Given the description of an element on the screen output the (x, y) to click on. 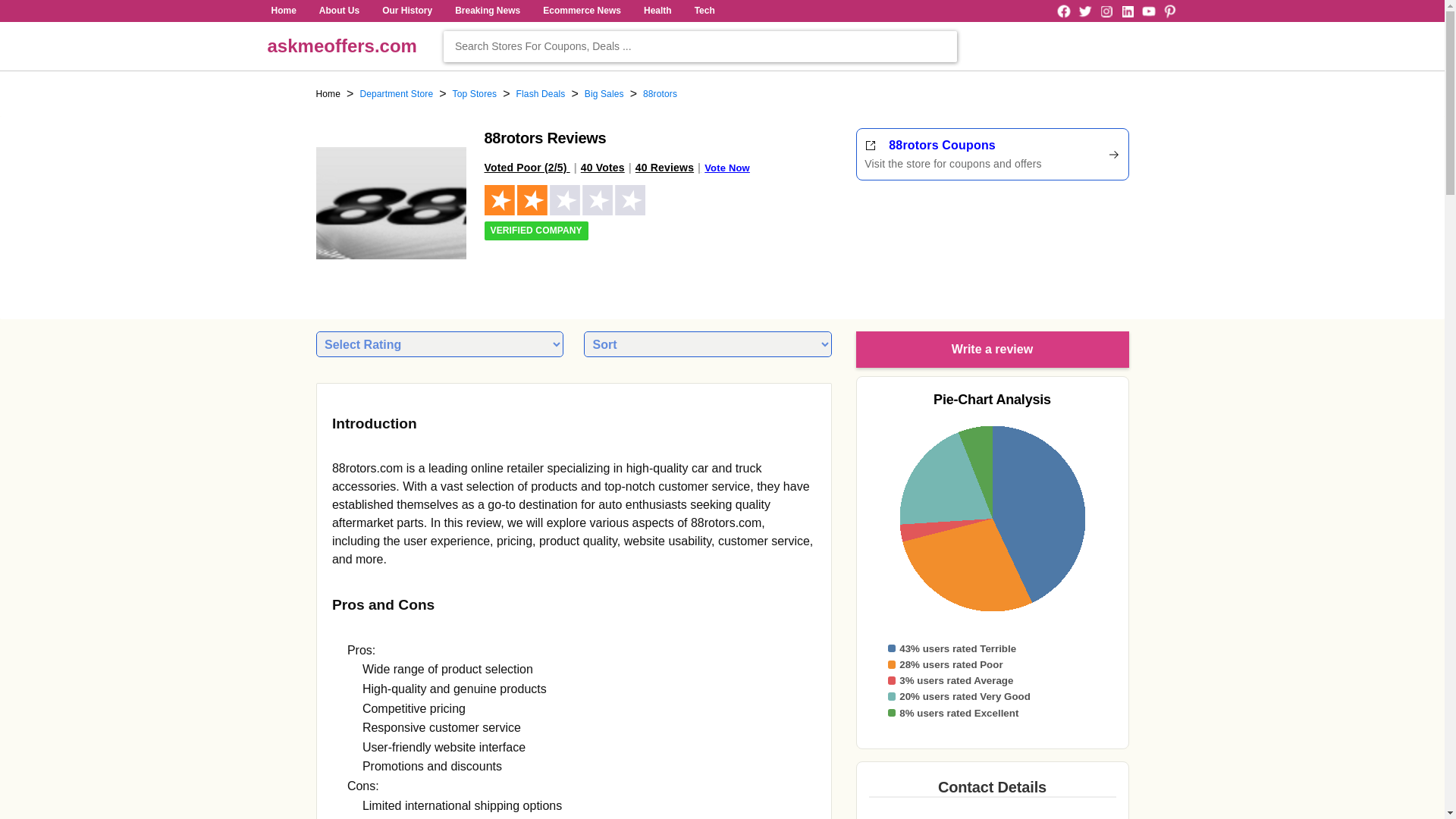
Top Stores (474, 93)
Tech (704, 10)
Department Store (395, 93)
About Us (338, 10)
Tech (704, 10)
Home (282, 10)
LinkedIn (1126, 11)
Twitter Username (1084, 11)
Home (327, 93)
Vote Now (726, 167)
Breaking News (487, 10)
Ecommerce News (581, 10)
Pinterest (1168, 11)
Our History (406, 10)
LinkedIn (1126, 11)
